Given the description of an element on the screen output the (x, y) to click on. 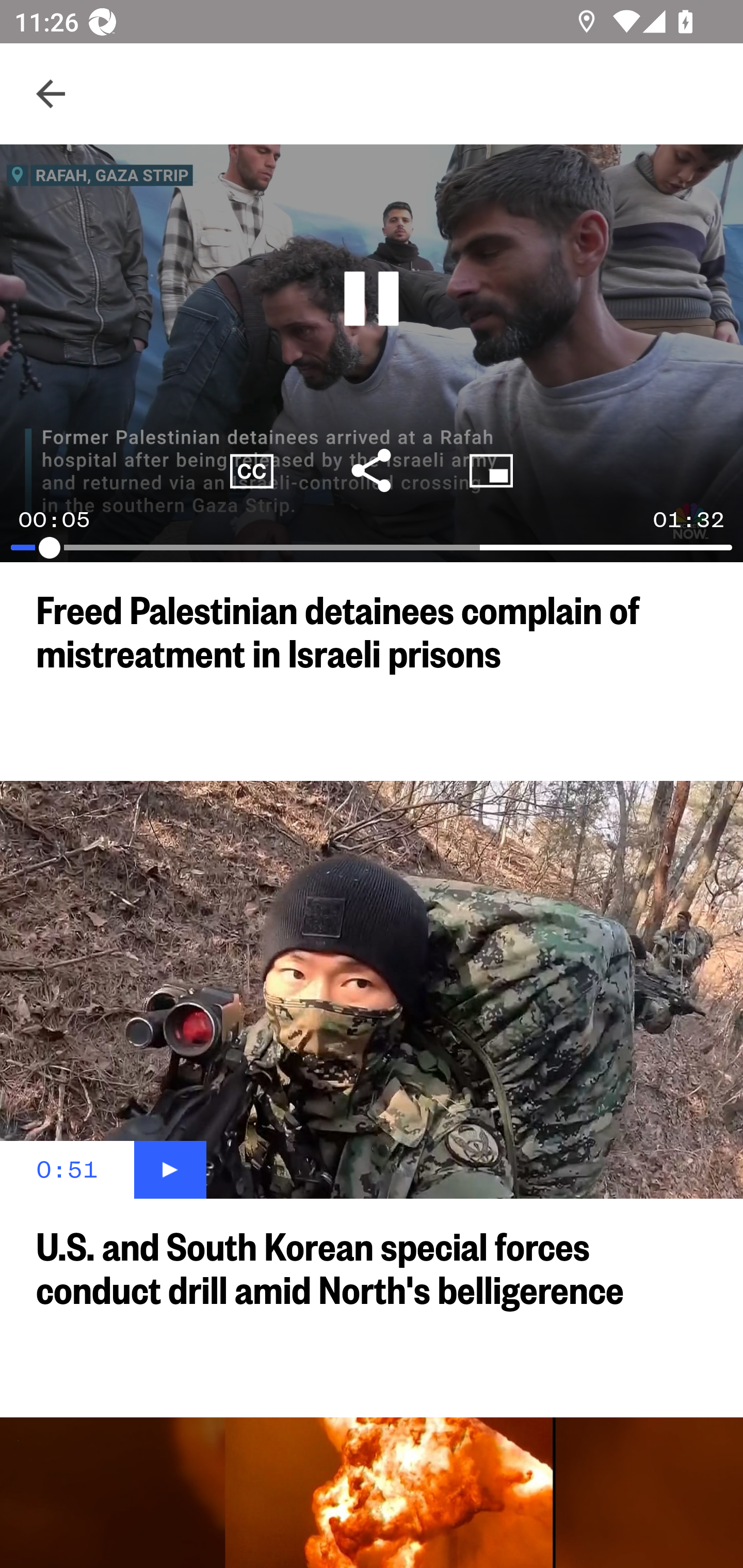
Navigate up (50, 93)
Pause (371, 298)
Closed Captions, ON (251, 470)
Share Media (371, 470)
Picture in Picture Media (490, 470)
